Given the description of an element on the screen output the (x, y) to click on. 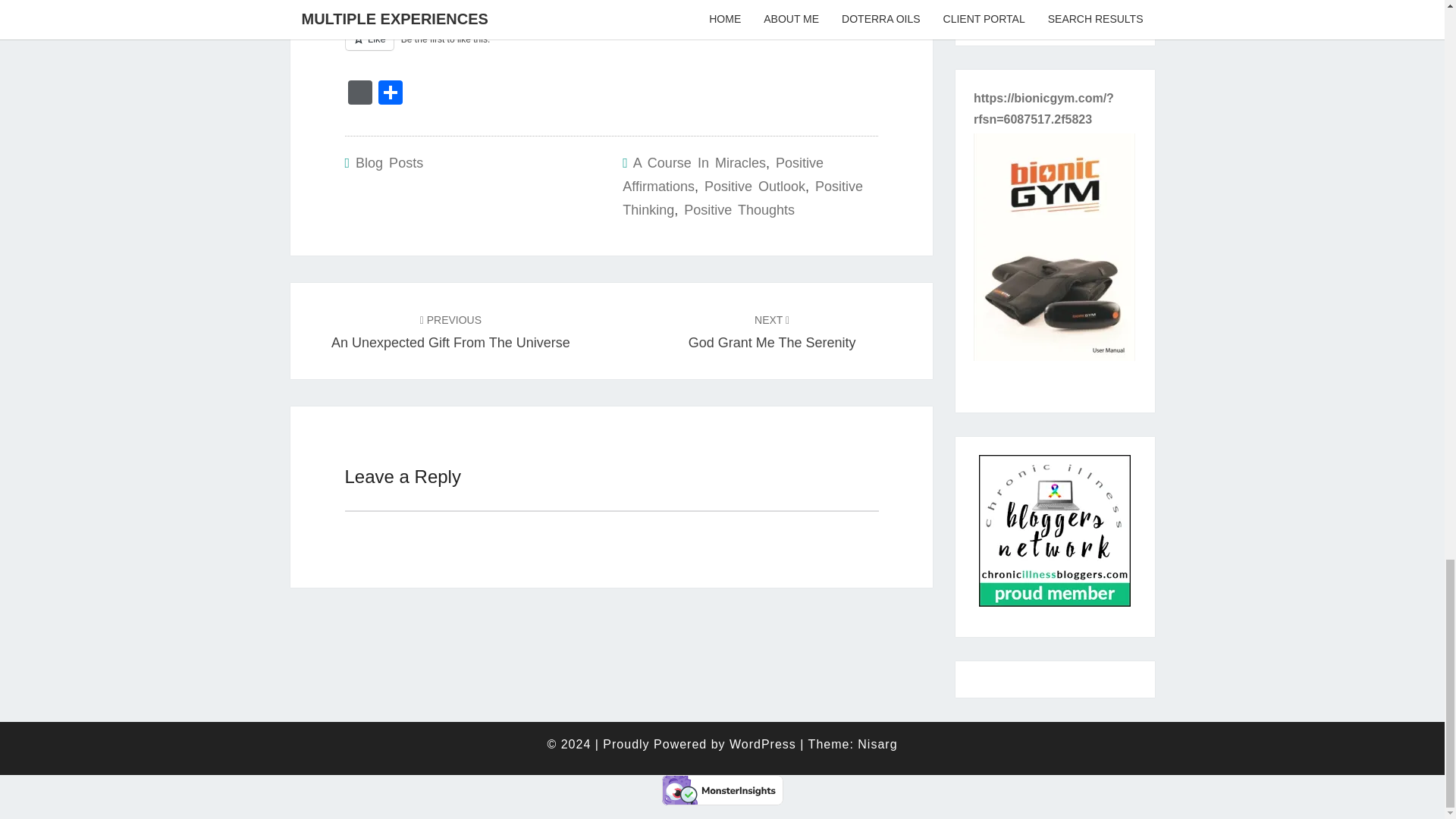
Like or Reblog (610, 46)
WordPress (772, 331)
Blog Posts (358, 94)
Verified by MonsterInsights (389, 162)
Positive Thoughts (722, 789)
A Course In Miracles (739, 209)
Positive Thinking (699, 162)
Positive Outlook (743, 198)
WordPress (754, 186)
Positive Affirmations (358, 94)
Chronic Illness Bloggers (723, 174)
Comment Form (1054, 535)
